Given the description of an element on the screen output the (x, y) to click on. 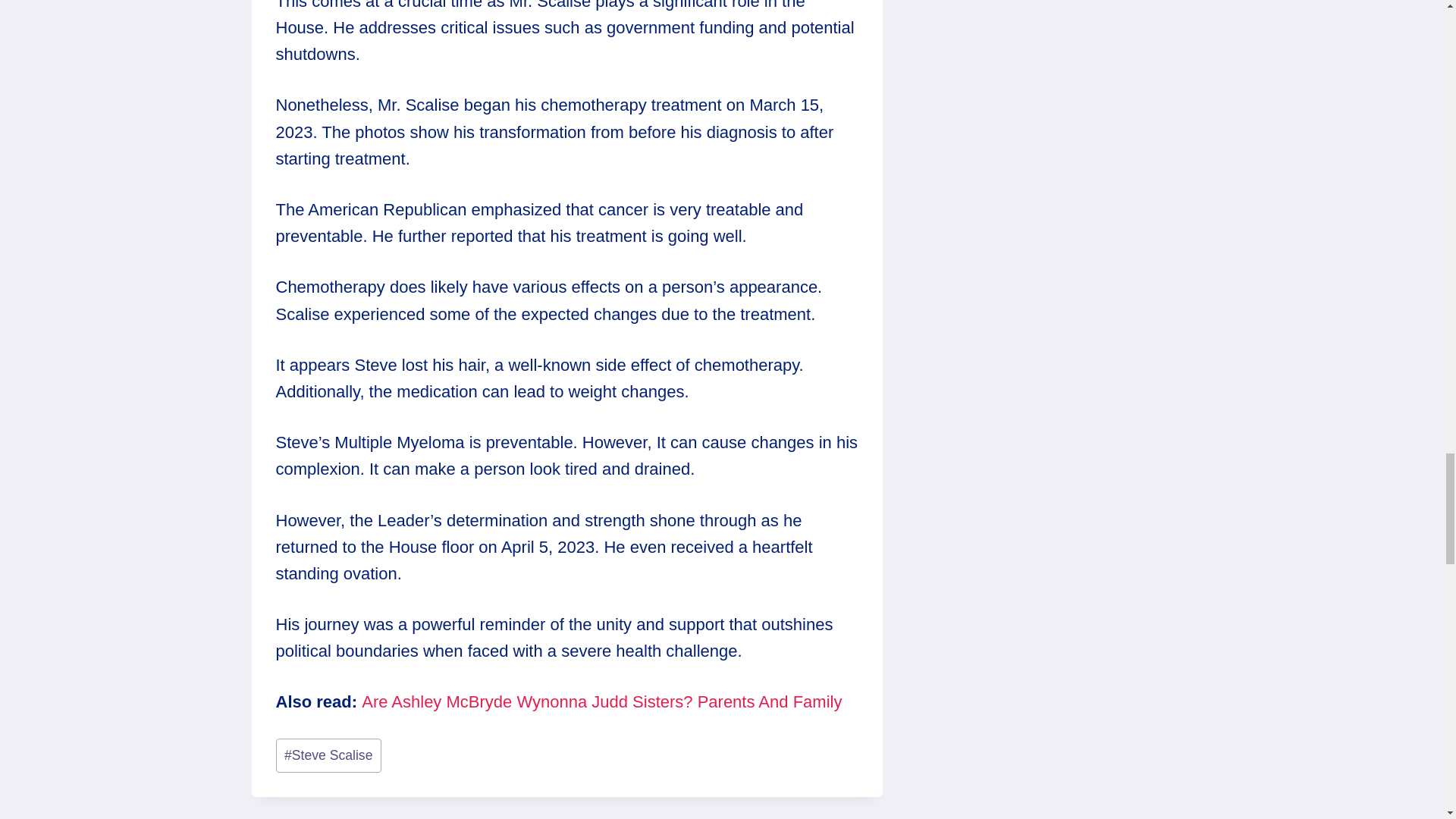
Steve Scalise (328, 755)
Are Ashley McBryde Wynonna Judd Sisters? Parents And Family (601, 701)
